Given the description of an element on the screen output the (x, y) to click on. 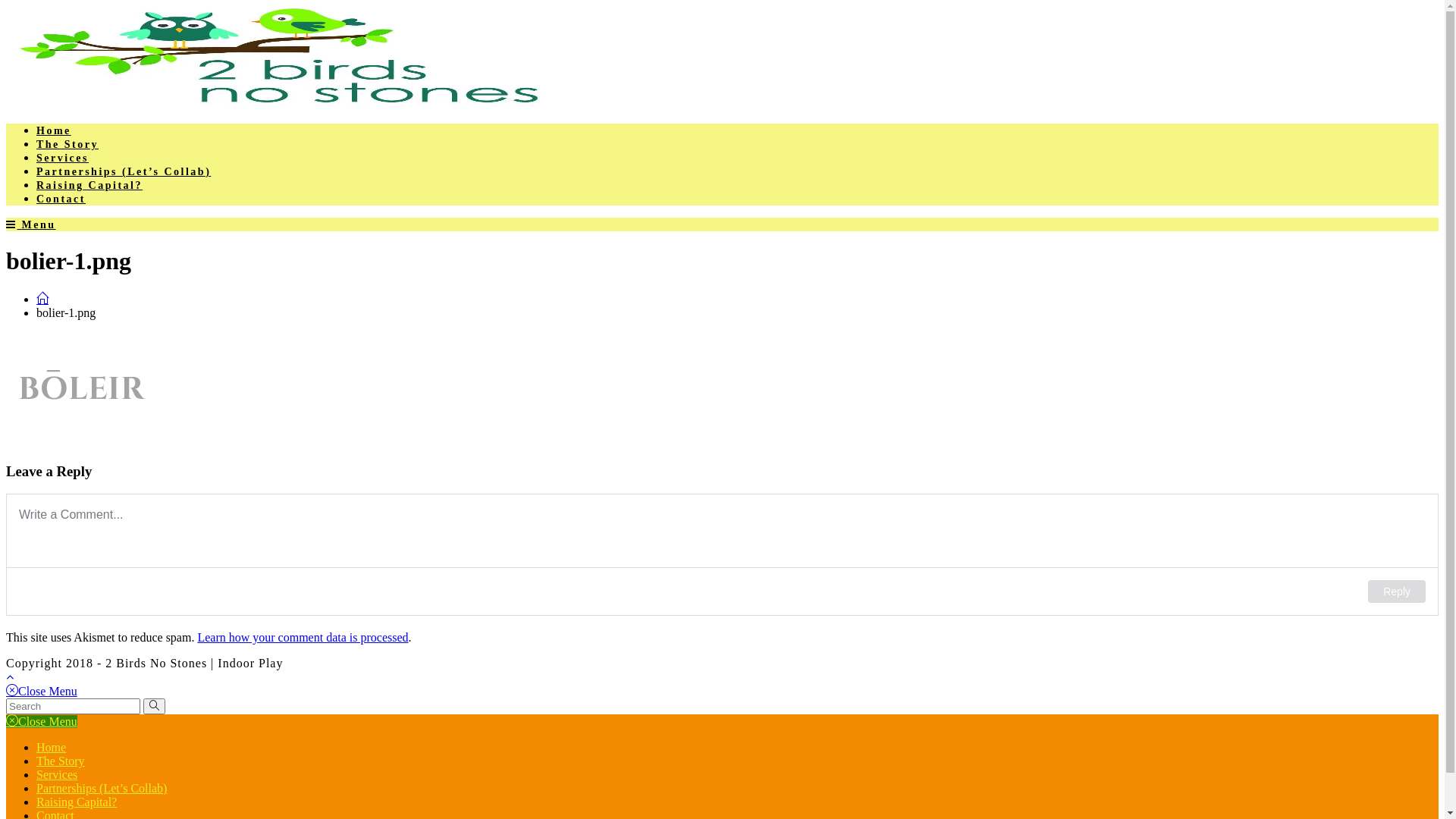
Close Menu Element type: text (41, 721)
Raising Capital? Element type: text (76, 801)
Services Element type: text (56, 774)
Home Element type: text (50, 746)
Menu Element type: text (31, 224)
Learn how your comment data is processed Element type: text (302, 636)
The Story Element type: text (67, 144)
Contact Element type: text (60, 198)
Home Element type: text (53, 130)
Raising Capital? Element type: text (89, 185)
Close Menu Element type: text (41, 690)
Services Element type: text (62, 157)
The Story Element type: text (60, 760)
Comment Form Element type: hover (722, 554)
